Given the description of an element on the screen output the (x, y) to click on. 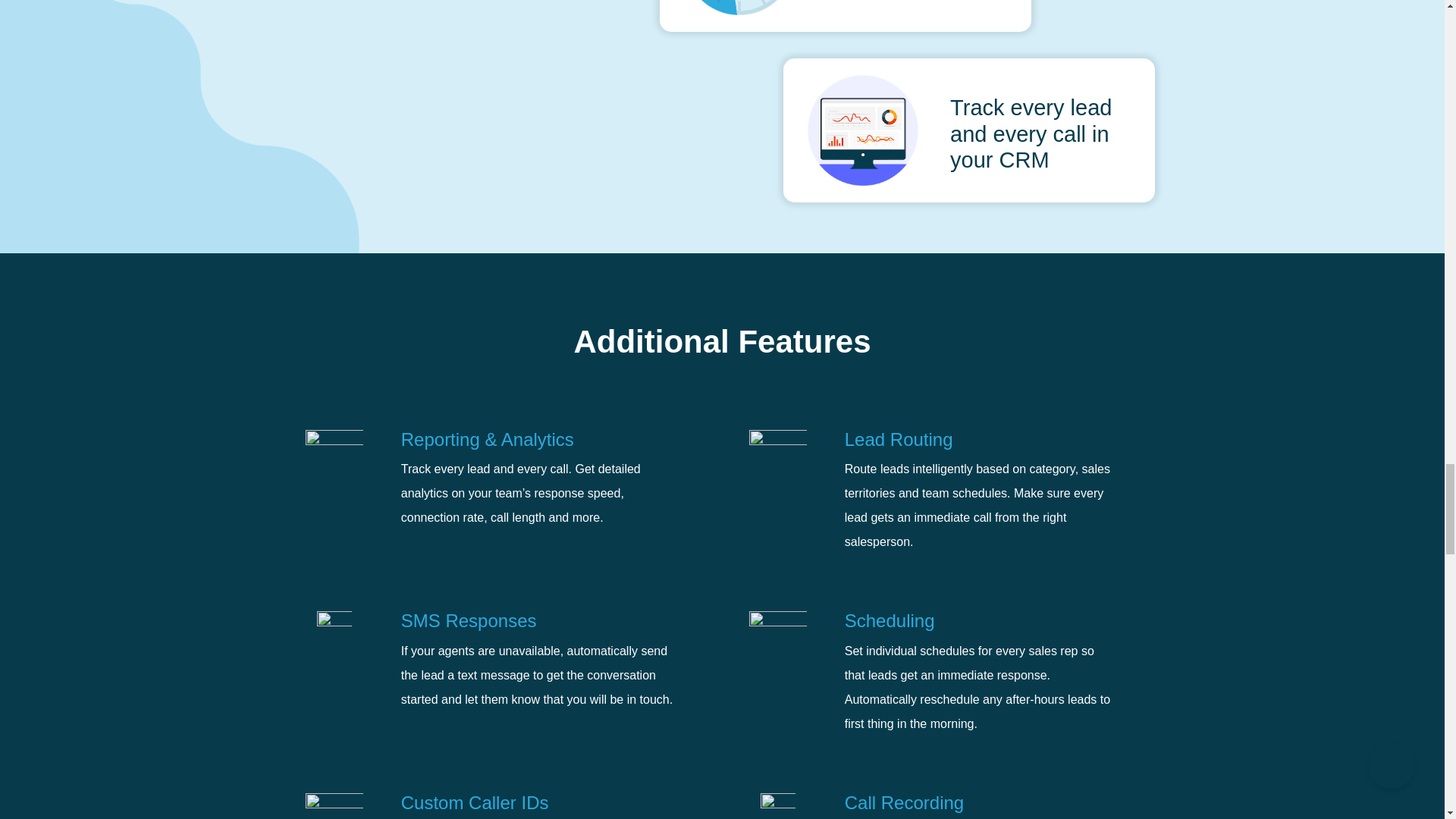
recording (777, 806)
routing (777, 458)
callerid (333, 806)
reporting (333, 461)
scheduling (777, 637)
